Given the description of an element on the screen output the (x, y) to click on. 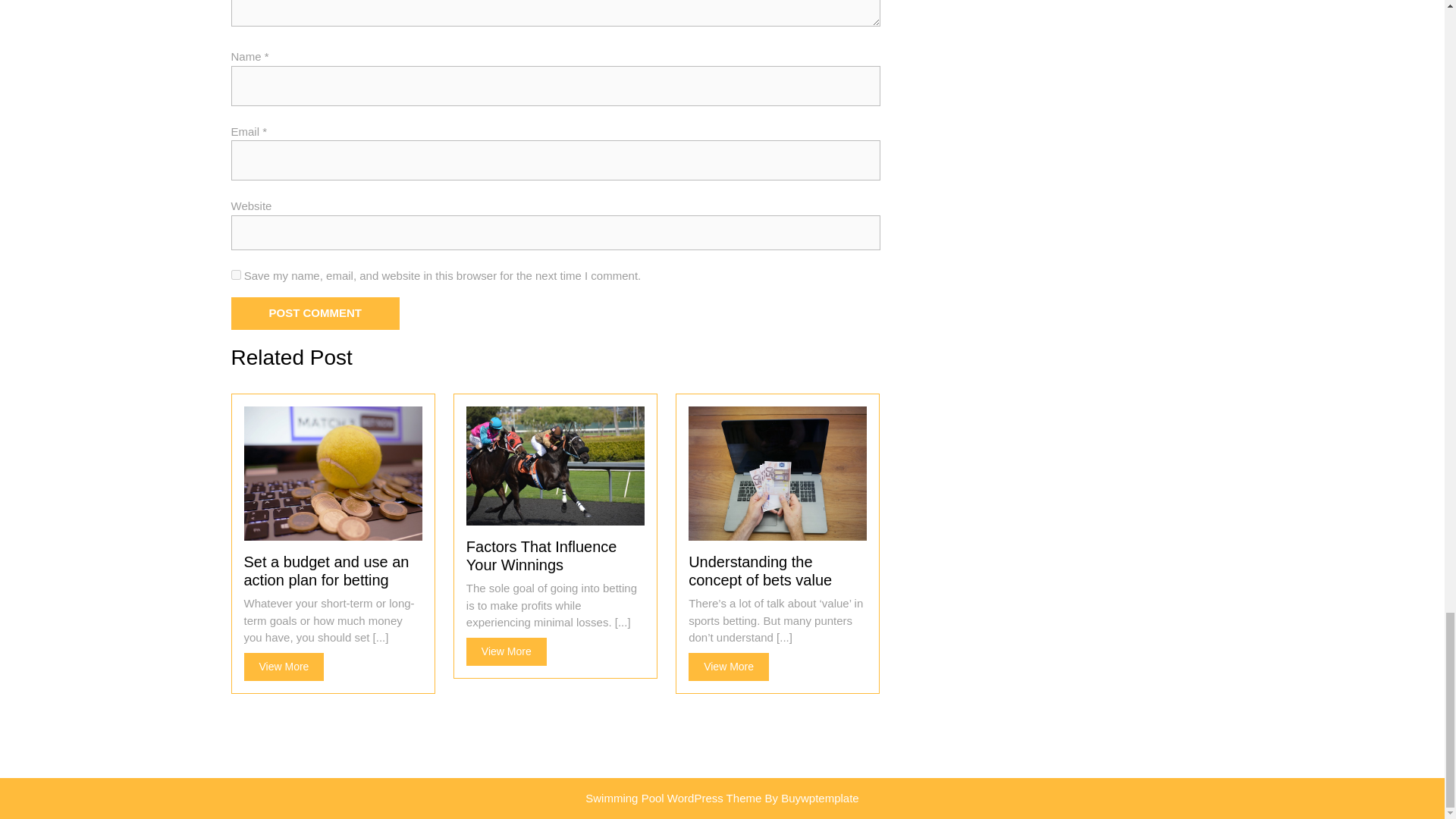
Post Comment (314, 313)
yes (235, 275)
Post Comment (728, 666)
